Given the description of an element on the screen output the (x, y) to click on. 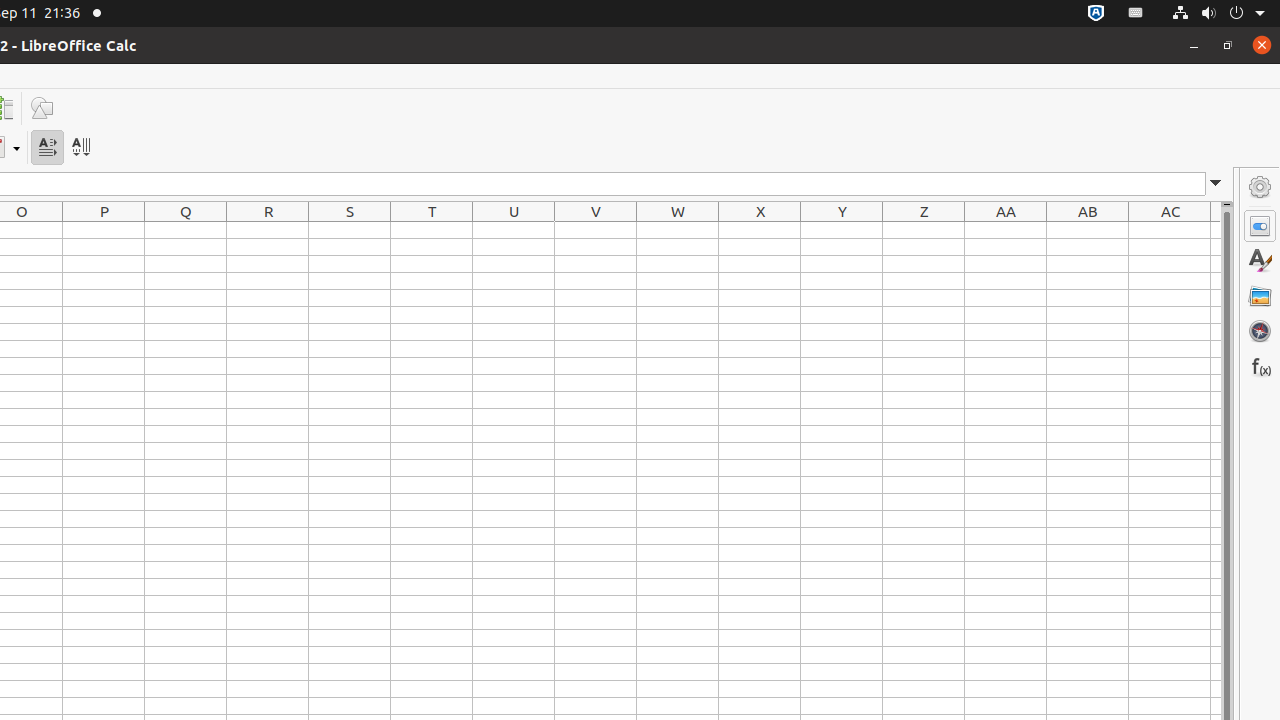
T1 Element type: table-cell (432, 230)
AC1 Element type: table-cell (1170, 230)
X1 Element type: table-cell (760, 230)
V1 Element type: table-cell (596, 230)
AD1 Element type: table-cell (1216, 230)
